Given the description of an element on the screen output the (x, y) to click on. 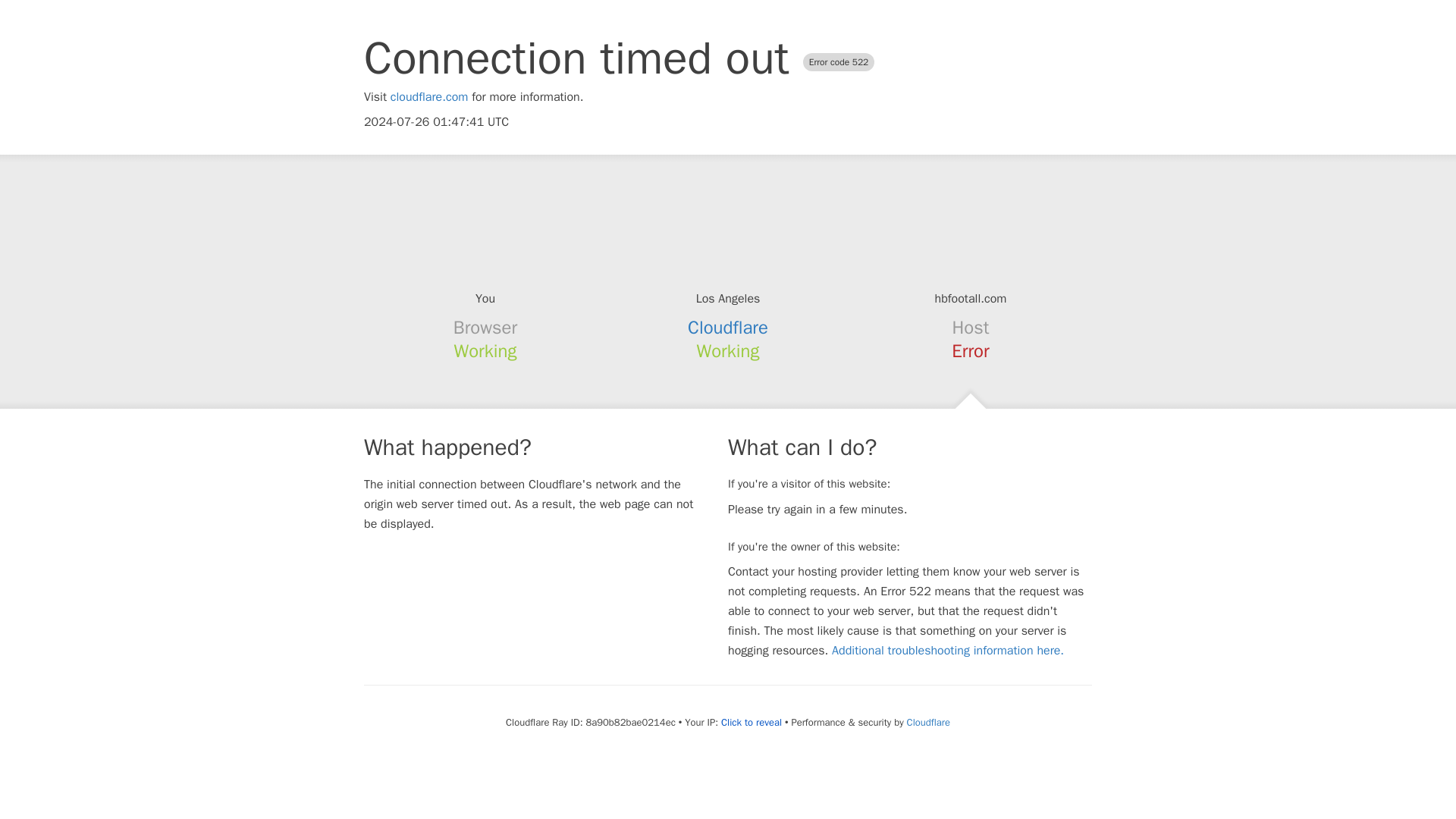
Additional troubleshooting information here. (947, 650)
Cloudflare (928, 721)
Click to reveal (750, 722)
cloudflare.com (429, 96)
Cloudflare (727, 327)
